Given the description of an element on the screen output the (x, y) to click on. 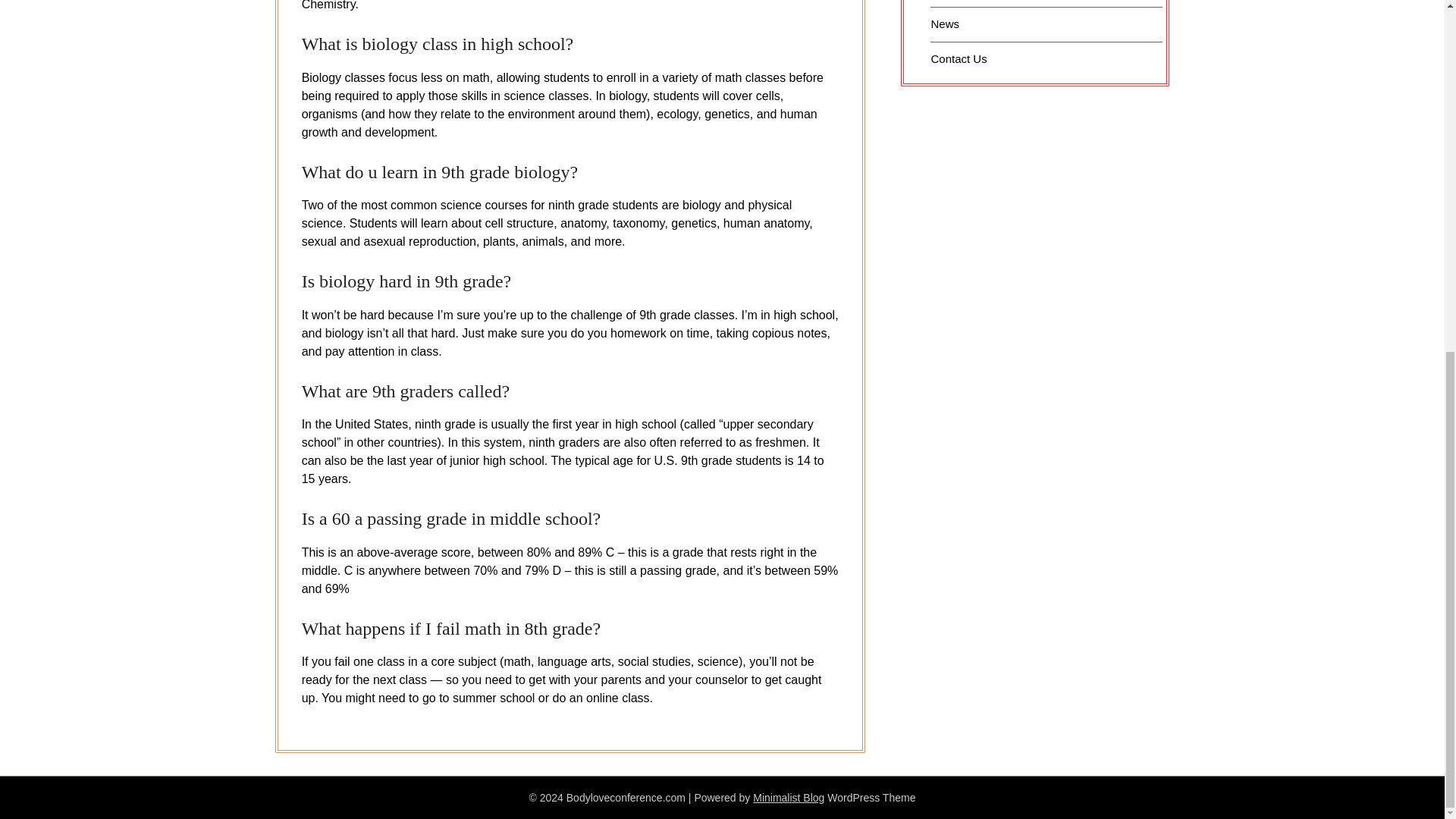
News (944, 23)
Minimalist Blog (788, 797)
Contact Us (958, 57)
